Given the description of an element on the screen output the (x, y) to click on. 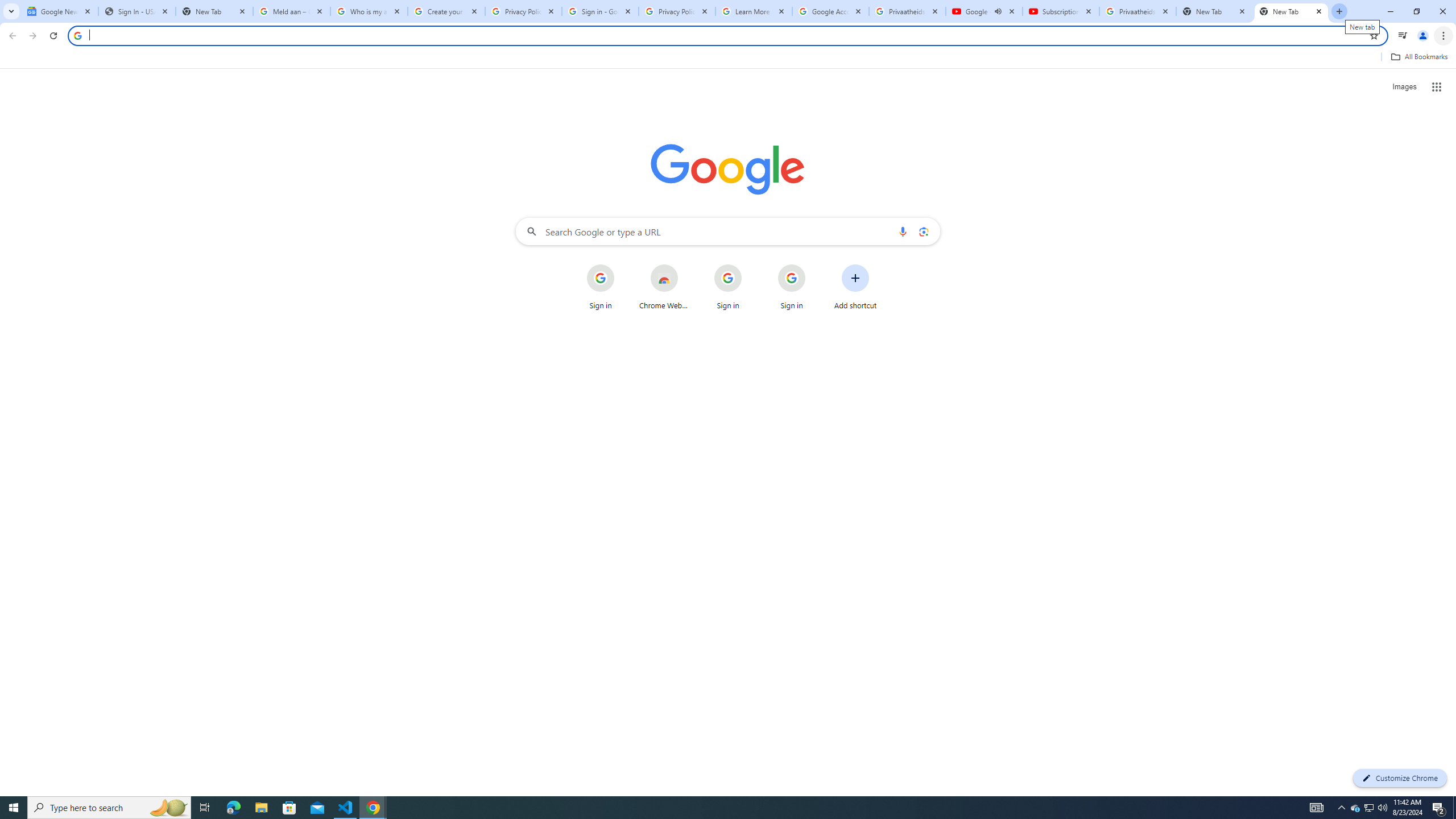
Who is my administrator? - Google Account Help (368, 11)
Google News (59, 11)
Sign In - USA TODAY (136, 11)
Google Account (830, 11)
